Given the description of an element on the screen output the (x, y) to click on. 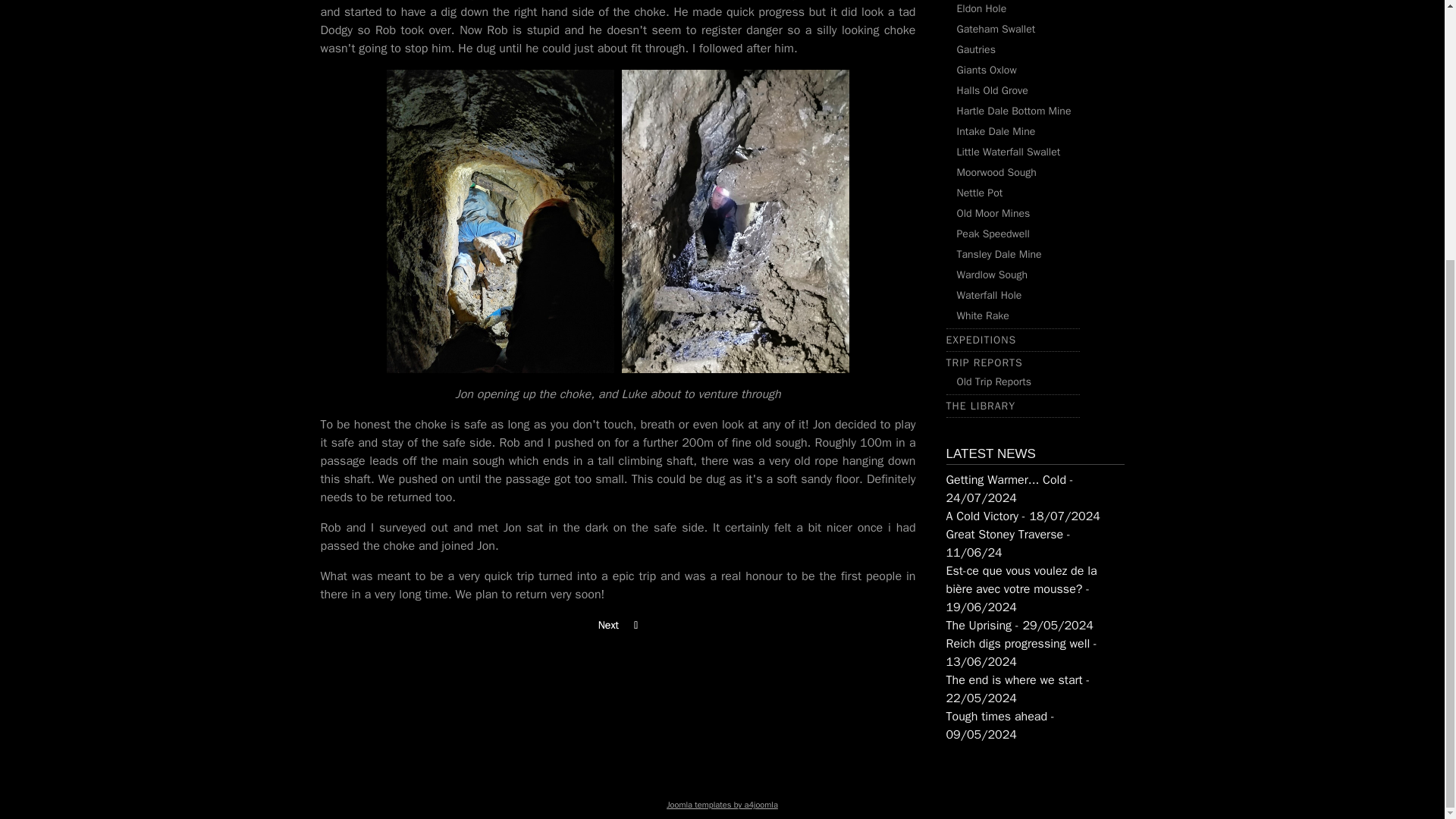
EXPEDITIONS (981, 339)
Nettle Pot (979, 192)
Waterfall Hole (989, 295)
Wardlow Sough (991, 274)
TRIP REPORTS (984, 362)
White Rake (982, 315)
Peak Speedwell (992, 233)
Moorwood Sough (996, 172)
Intake Dale Mine (995, 131)
Old Trip Reports (993, 381)
